Given the description of an element on the screen output the (x, y) to click on. 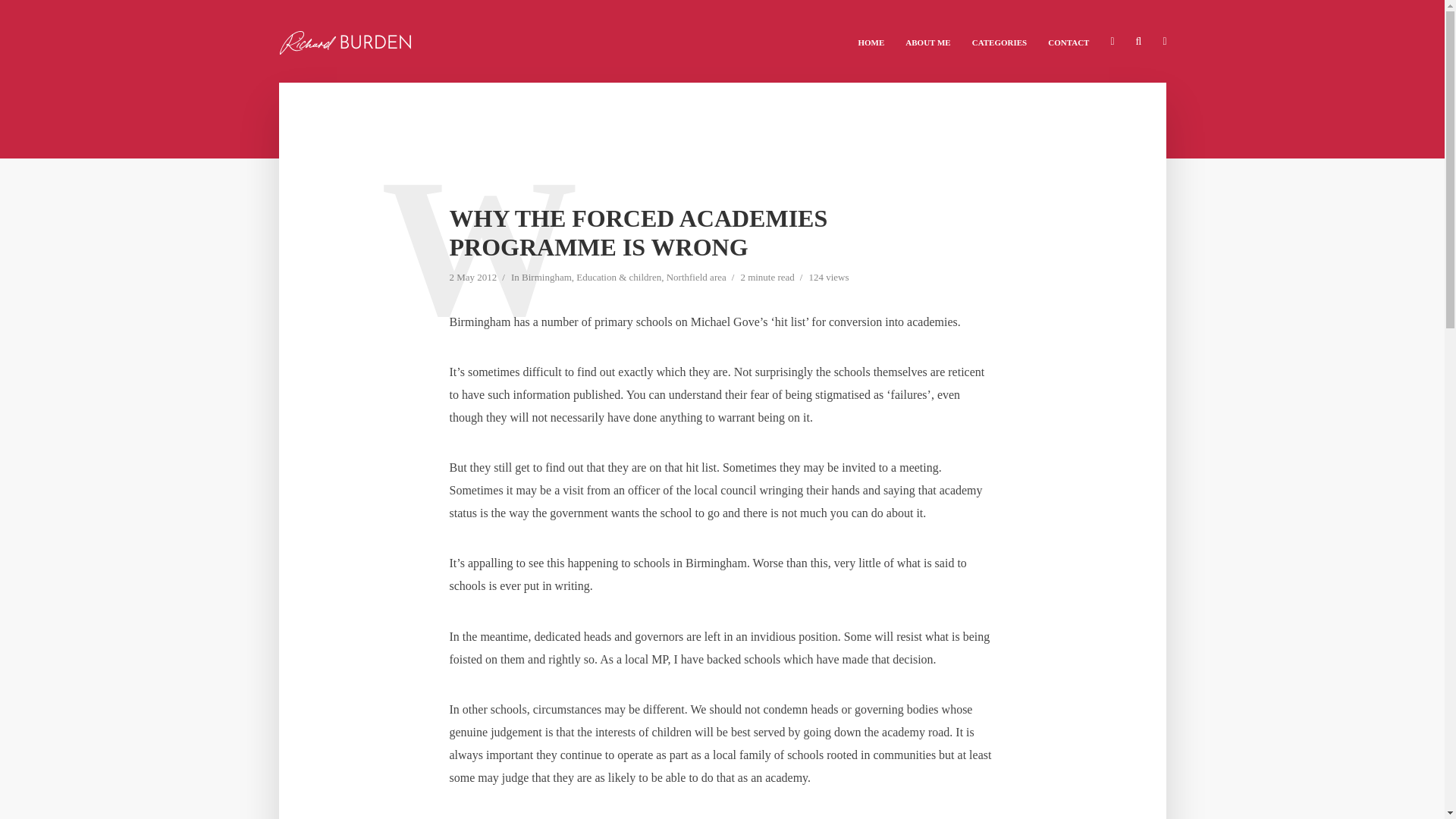
ABOUT ME (927, 41)
CONTACT (1067, 41)
Birmingham (546, 278)
Northfield area (696, 278)
HOME (871, 41)
CATEGORIES (999, 41)
